Given the description of an element on the screen output the (x, y) to click on. 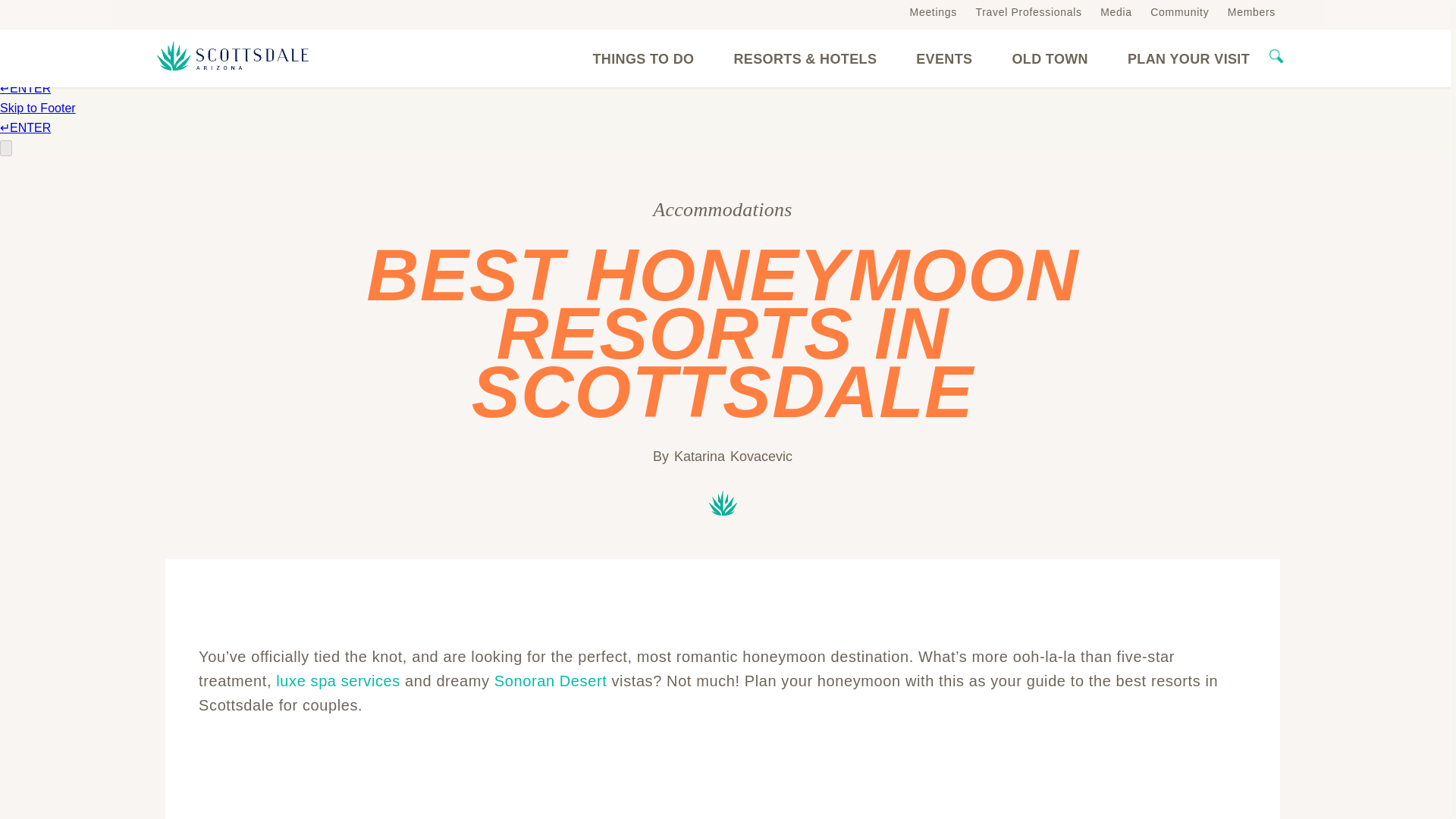
Meetings (933, 11)
Meetings (933, 11)
Travel Professionals (1028, 11)
